Given the description of an element on the screen output the (x, y) to click on. 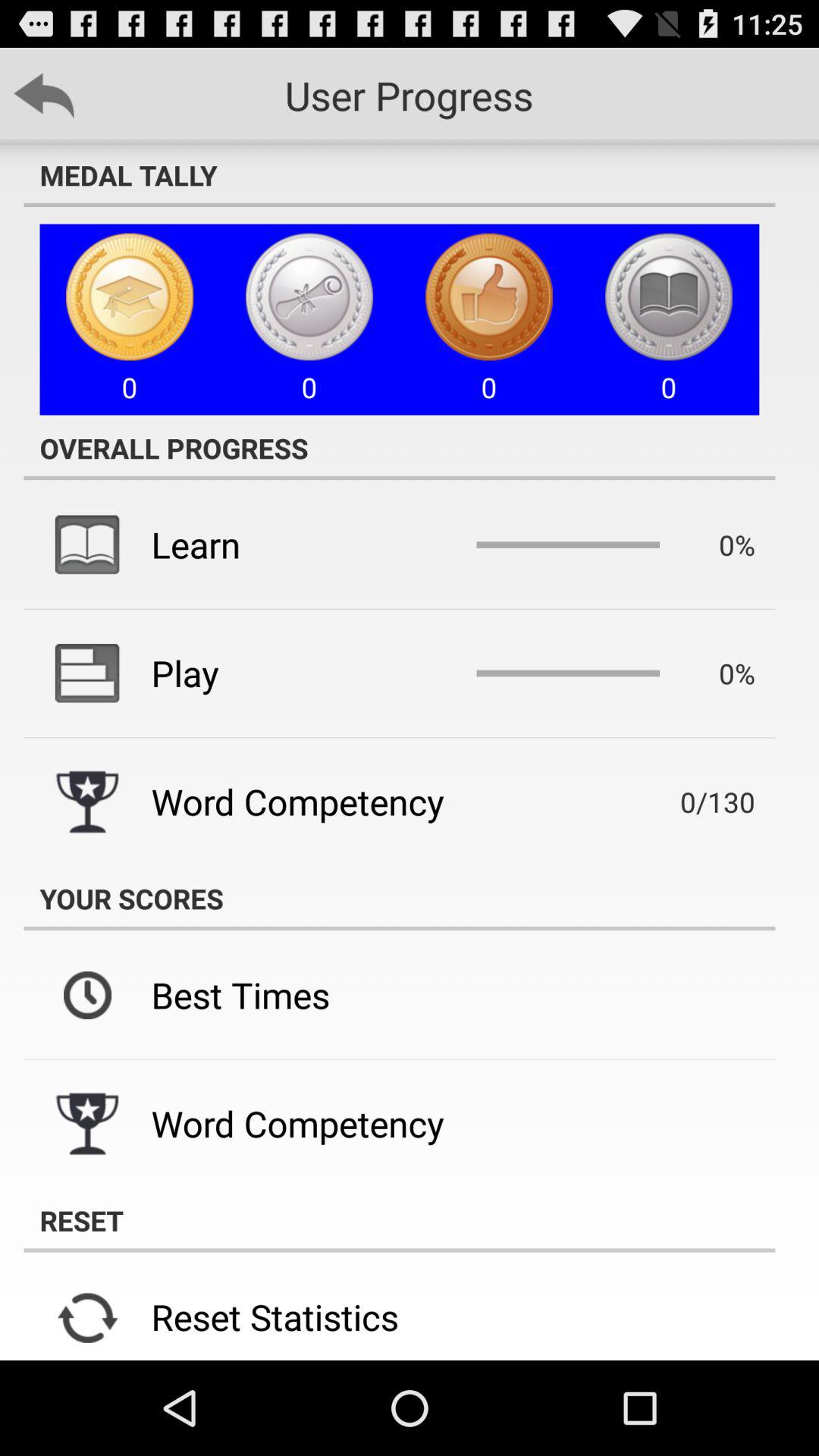
open reset statistics item (274, 1316)
